Given the description of an element on the screen output the (x, y) to click on. 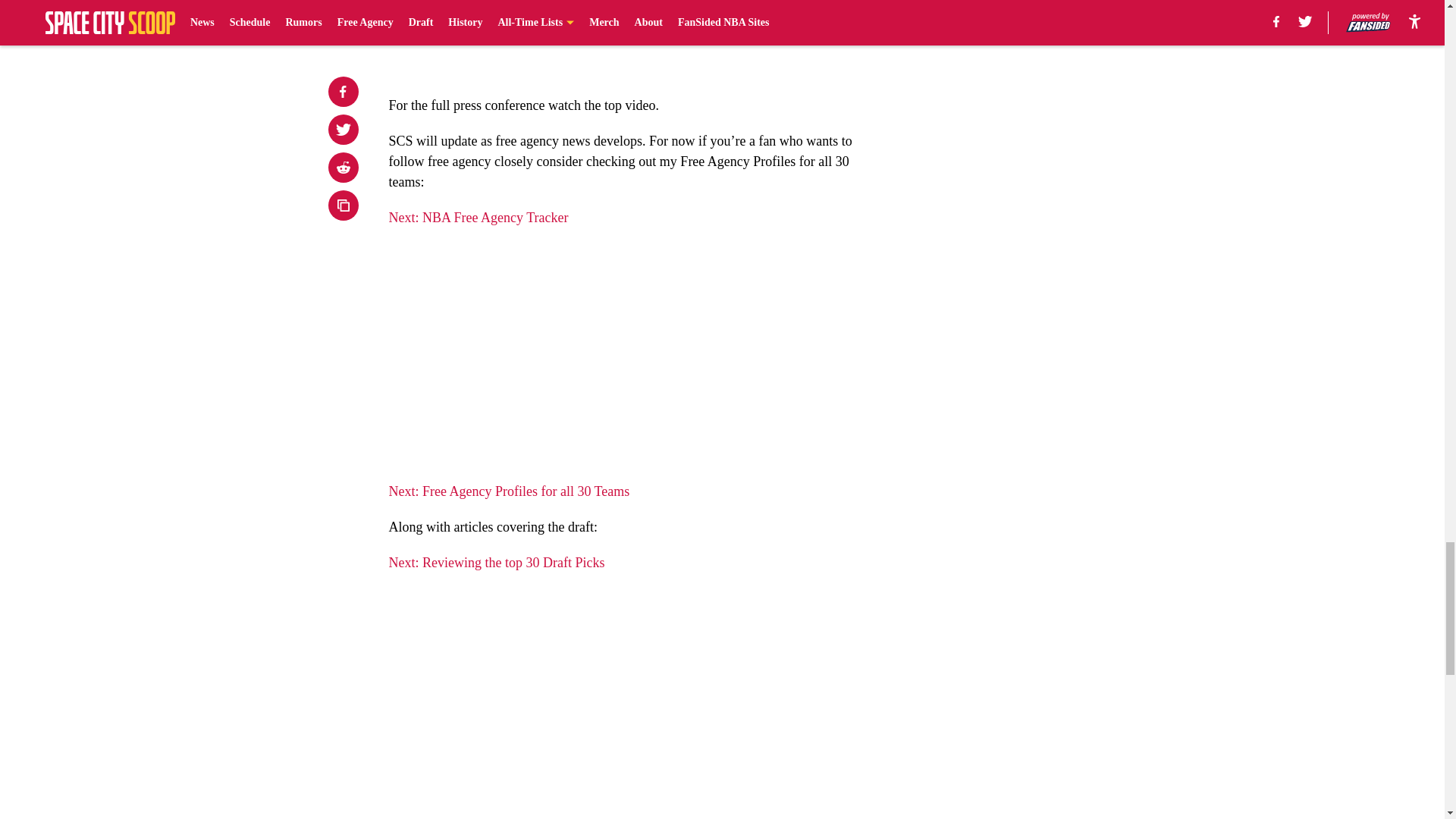
Next: Reviewing the top 30 Draft Picks (496, 562)
Next: Free Agency Profiles for all 30 Teams (508, 491)
Next: NBA Free Agency Tracker (477, 217)
